Given the description of an element on the screen output the (x, y) to click on. 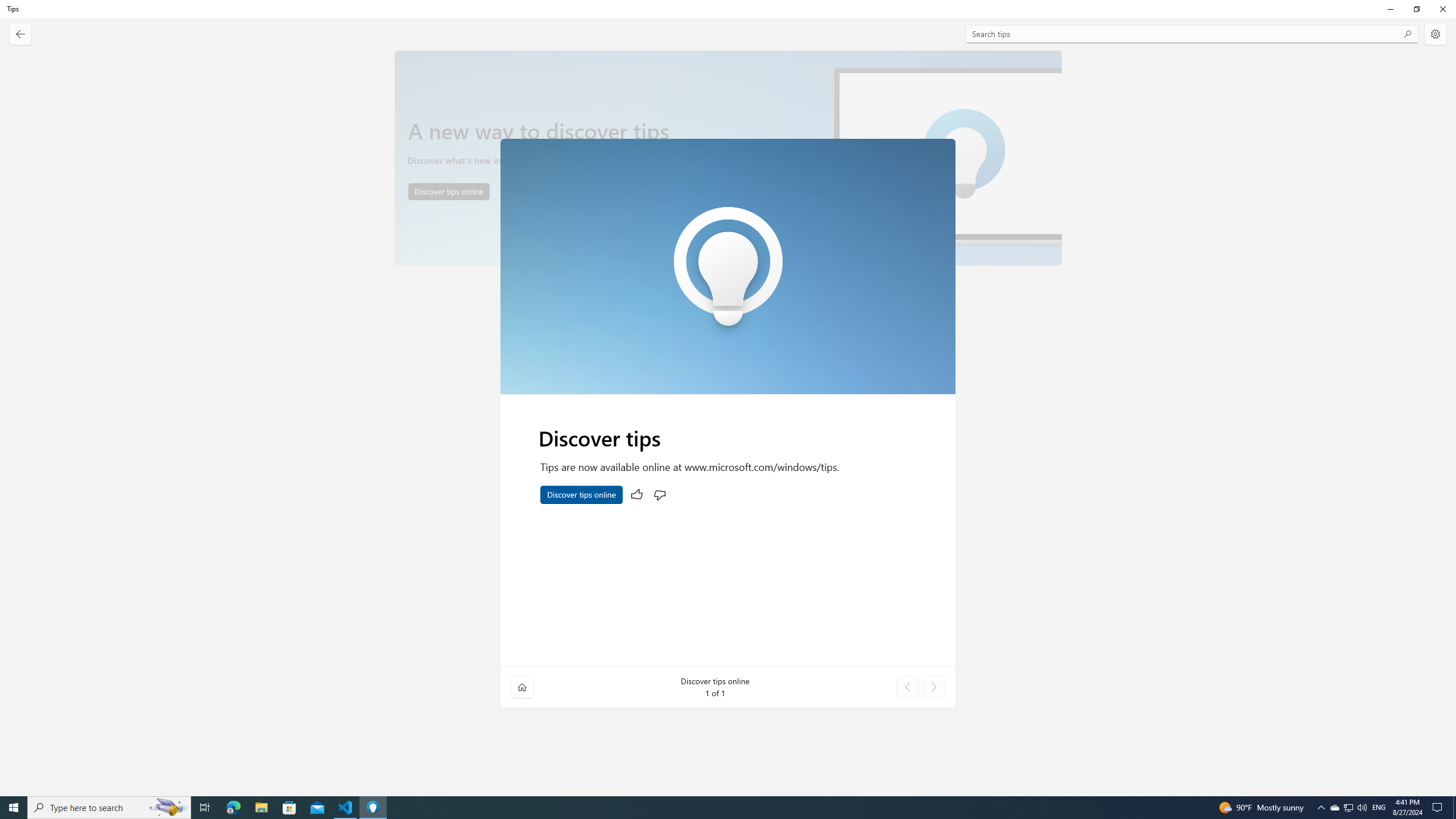
Discover tips online (581, 494)
Next tip (933, 686)
Rate this tip. This is not helpful. (659, 494)
Rate this tip. This is helpful. (636, 494)
